Given the description of an element on the screen output the (x, y) to click on. 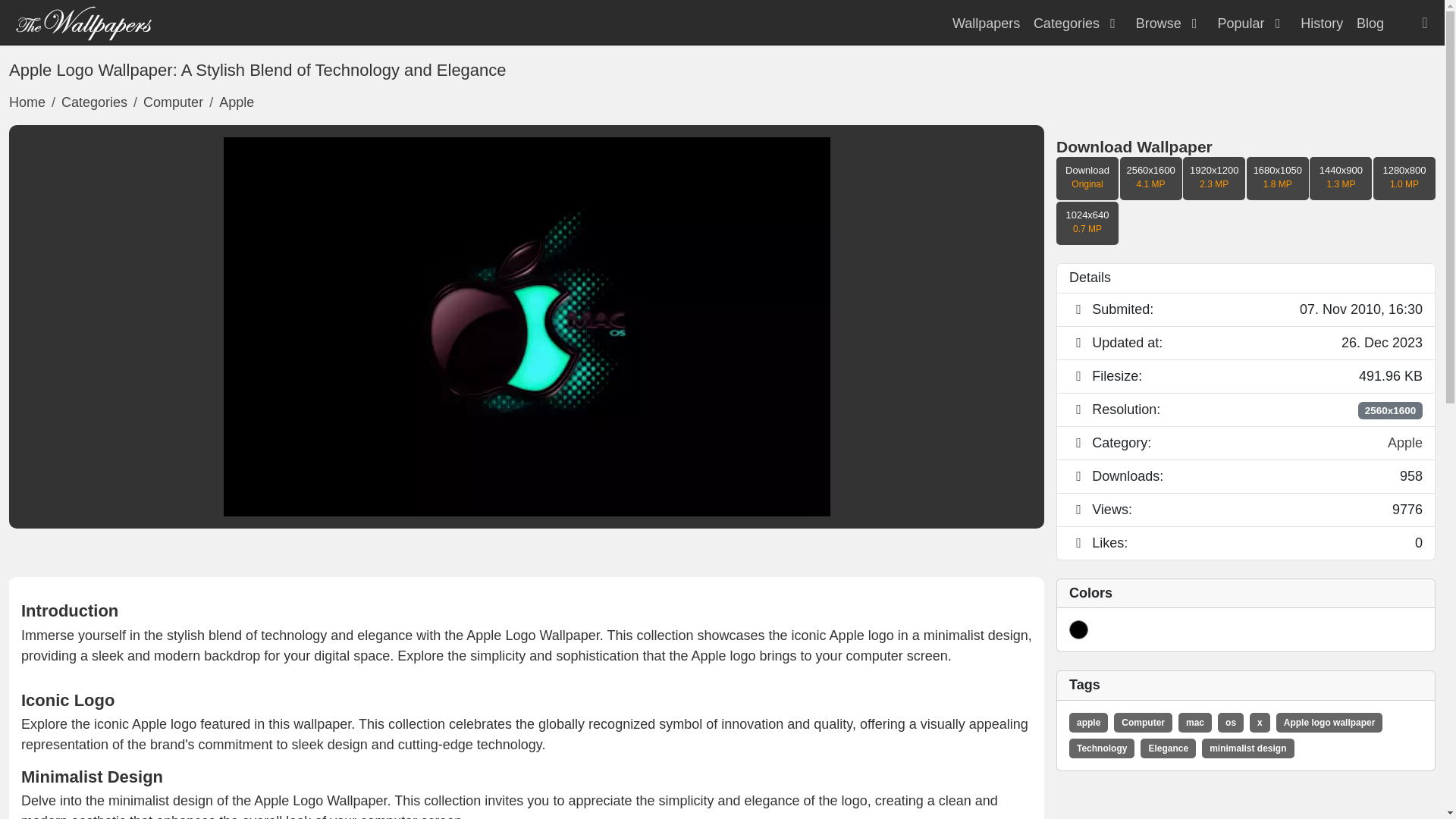
Wallpapers (986, 23)
Wallpapers (986, 23)
Wallpapers (83, 21)
